Given the description of an element on the screen output the (x, y) to click on. 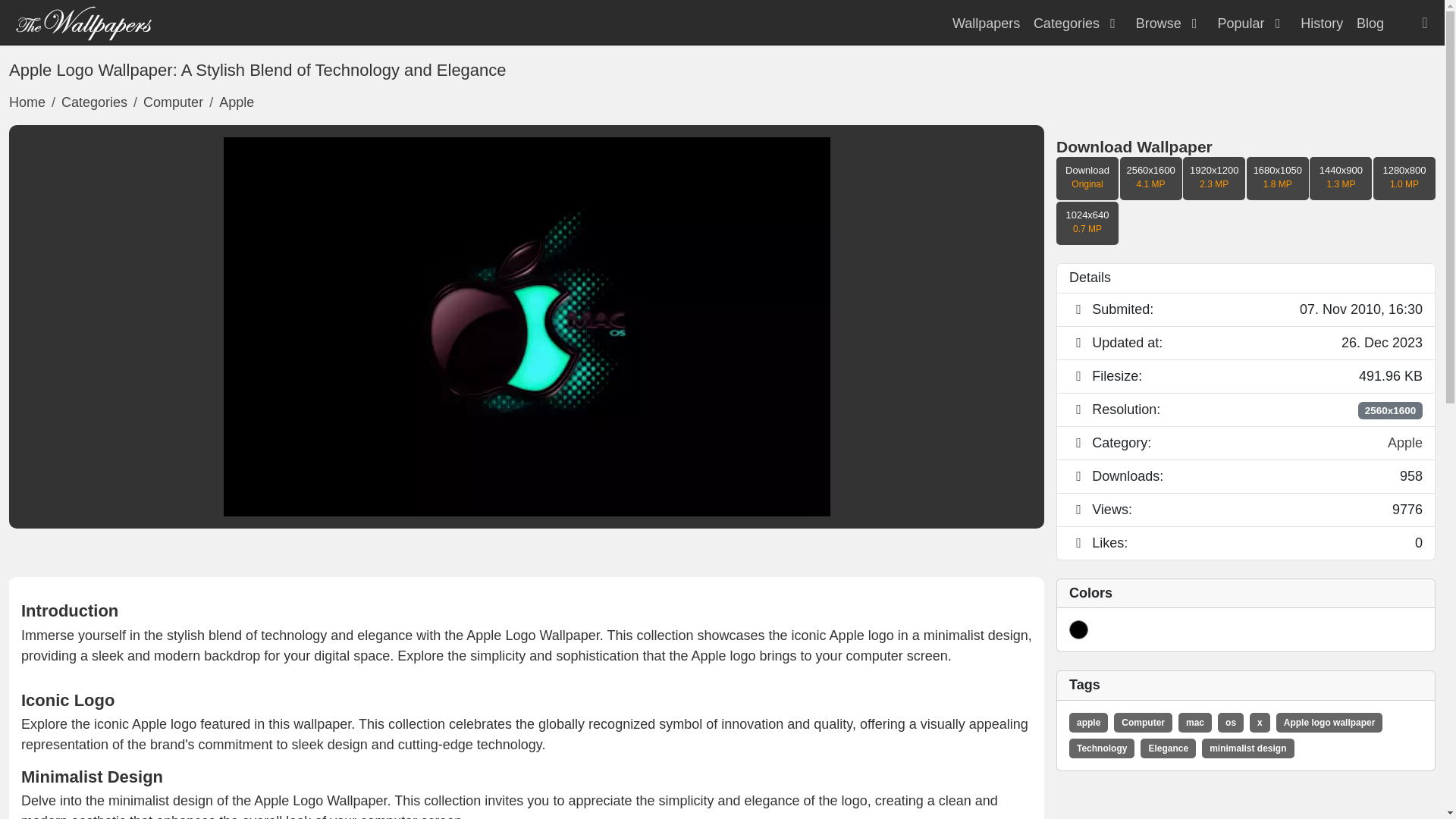
Wallpapers (986, 23)
Wallpapers (986, 23)
Wallpapers (83, 21)
